Given the description of an element on the screen output the (x, y) to click on. 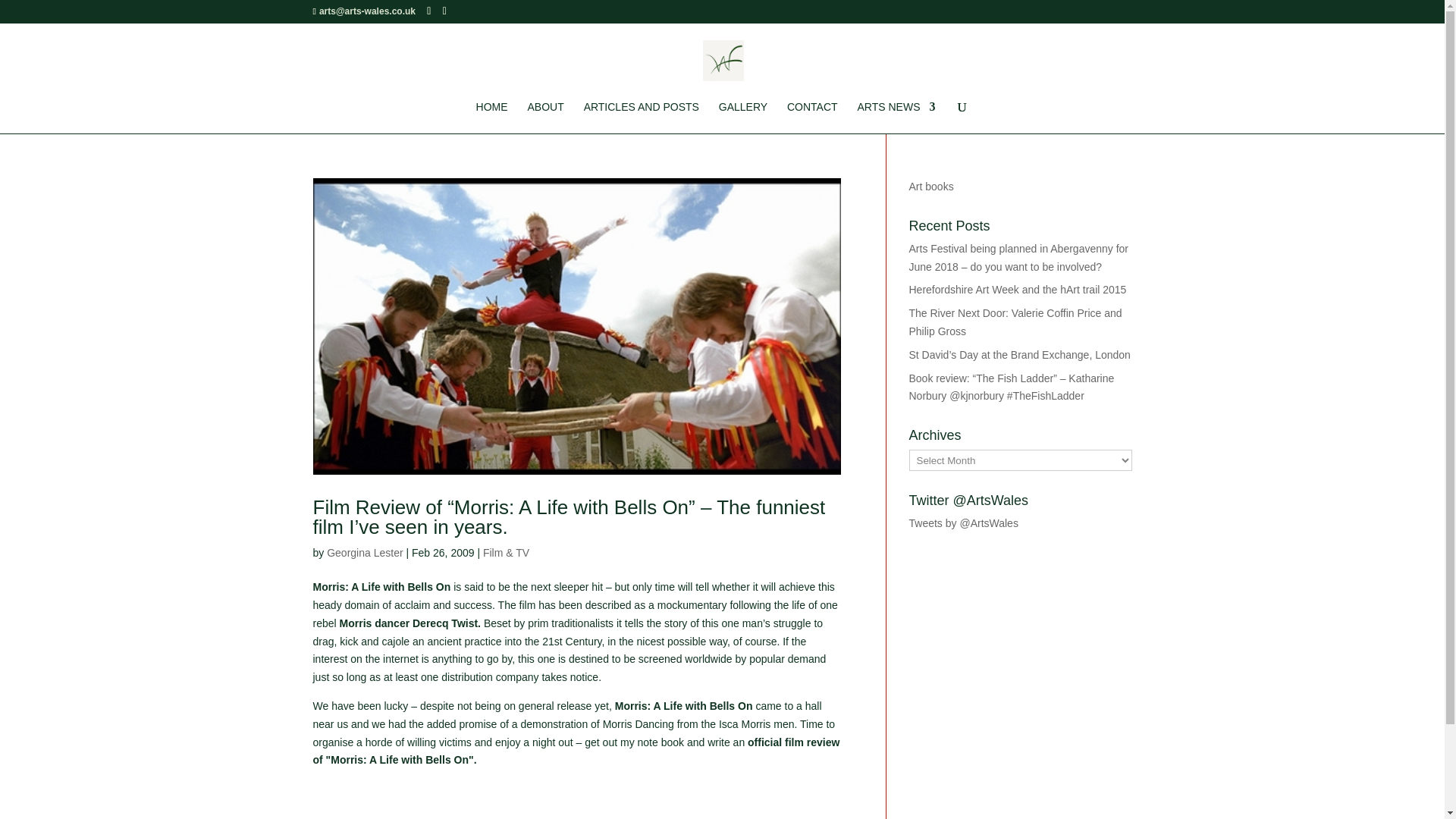
Posts by Georgina Lester (364, 552)
ARTICLES AND POSTS (640, 117)
Herefordshire Art Week and the hArt trail 2015 (1016, 289)
CONTACT (812, 117)
HOME (492, 117)
Art books (930, 186)
ARTS NEWS (895, 117)
The River Next Door: Valerie Coffin Price and Philip Gross (1014, 322)
Georgina Lester (364, 552)
GALLERY (743, 117)
